Given the description of an element on the screen output the (x, y) to click on. 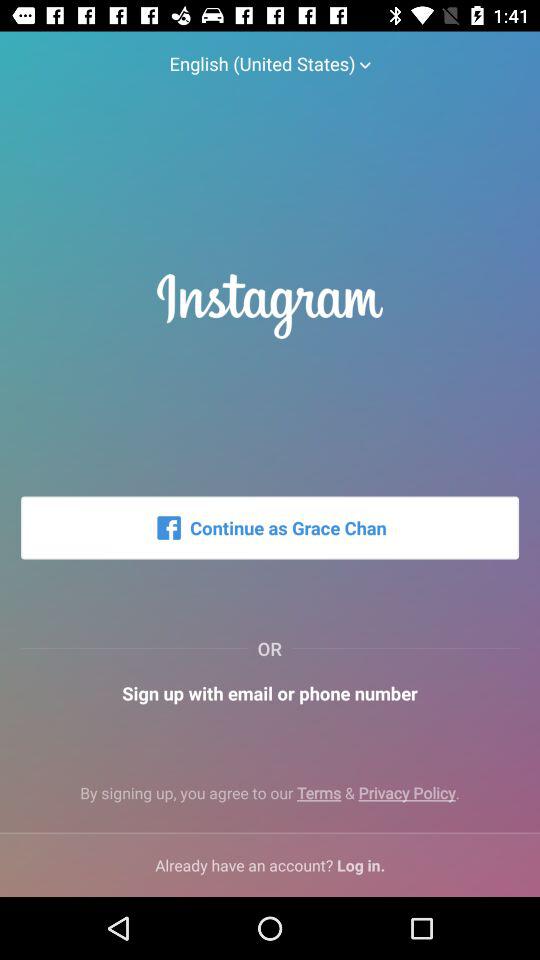
press sign up with icon (270, 692)
